Given the description of an element on the screen output the (x, y) to click on. 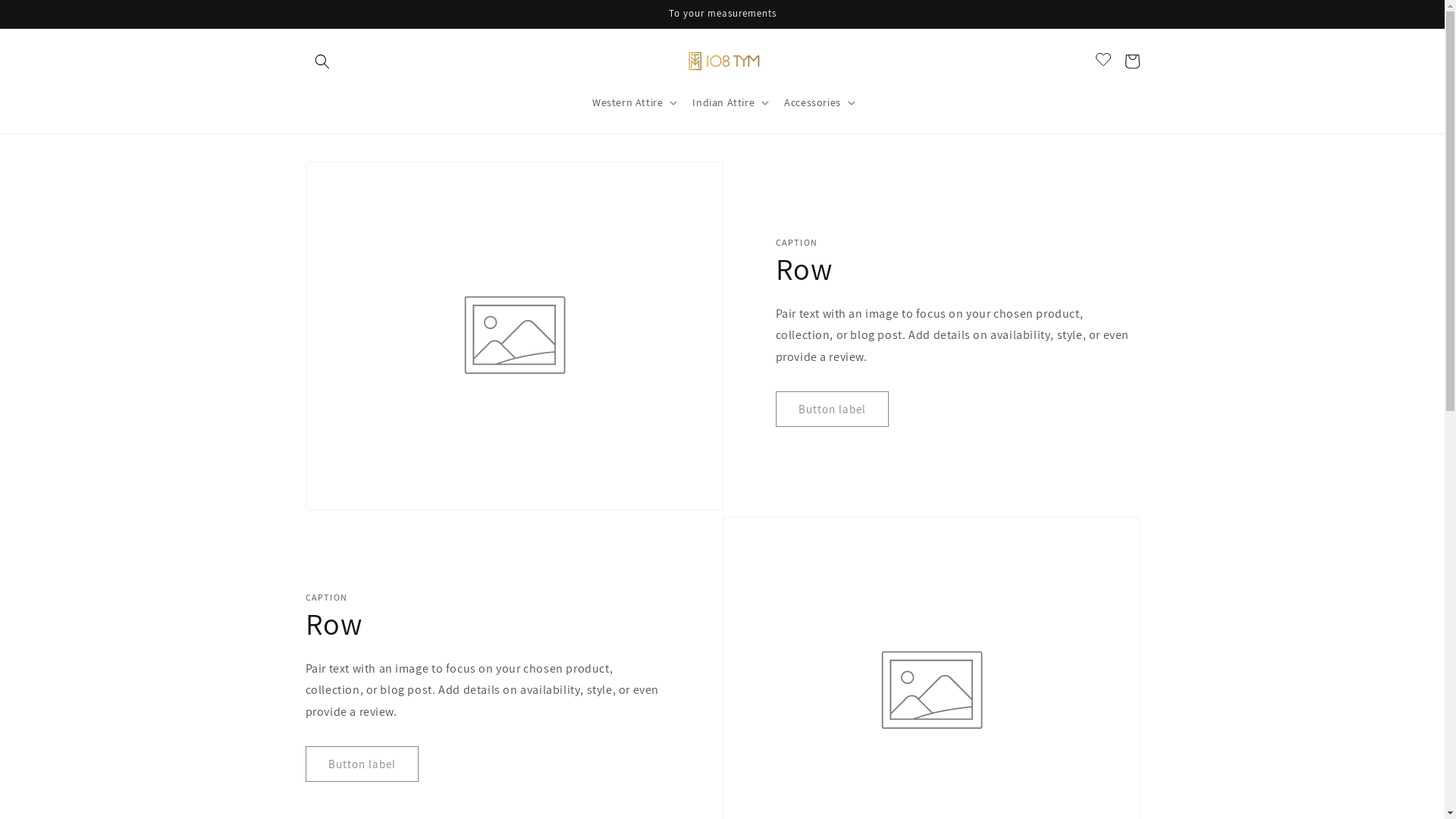
Button label Element type: text (360, 763)
Cart Element type: text (1131, 61)
Button label Element type: text (831, 408)
